Given the description of an element on the screen output the (x, y) to click on. 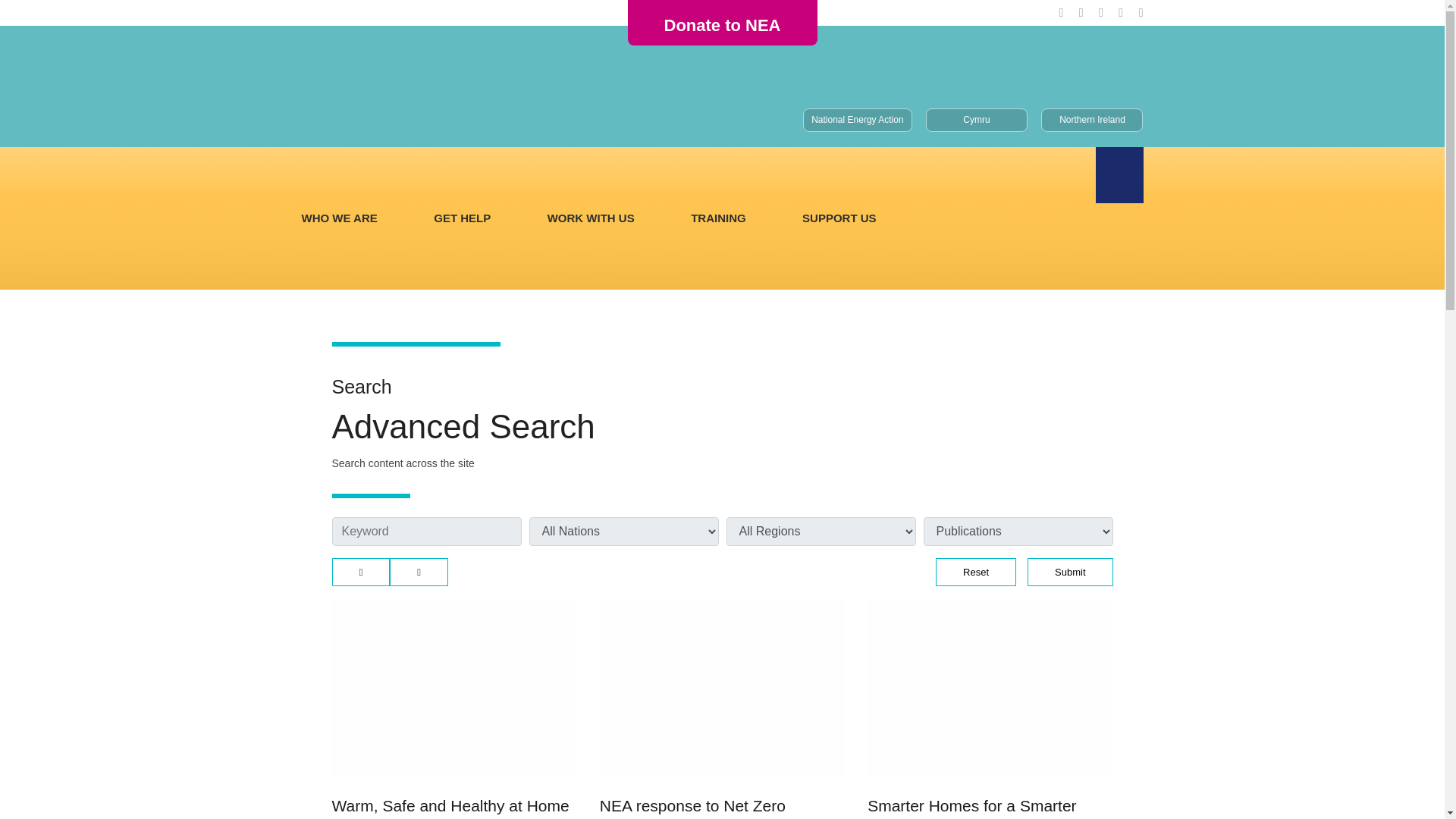
Donate to NEA (721, 25)
WORK WITH US (590, 218)
WHO WE ARE (339, 218)
GET HELP (461, 218)
National Energy Action (857, 119)
Cymru (976, 119)
Northern Ireland (1091, 119)
WHO WE ARE (339, 218)
TRAINING (717, 218)
